Given the description of an element on the screen output the (x, y) to click on. 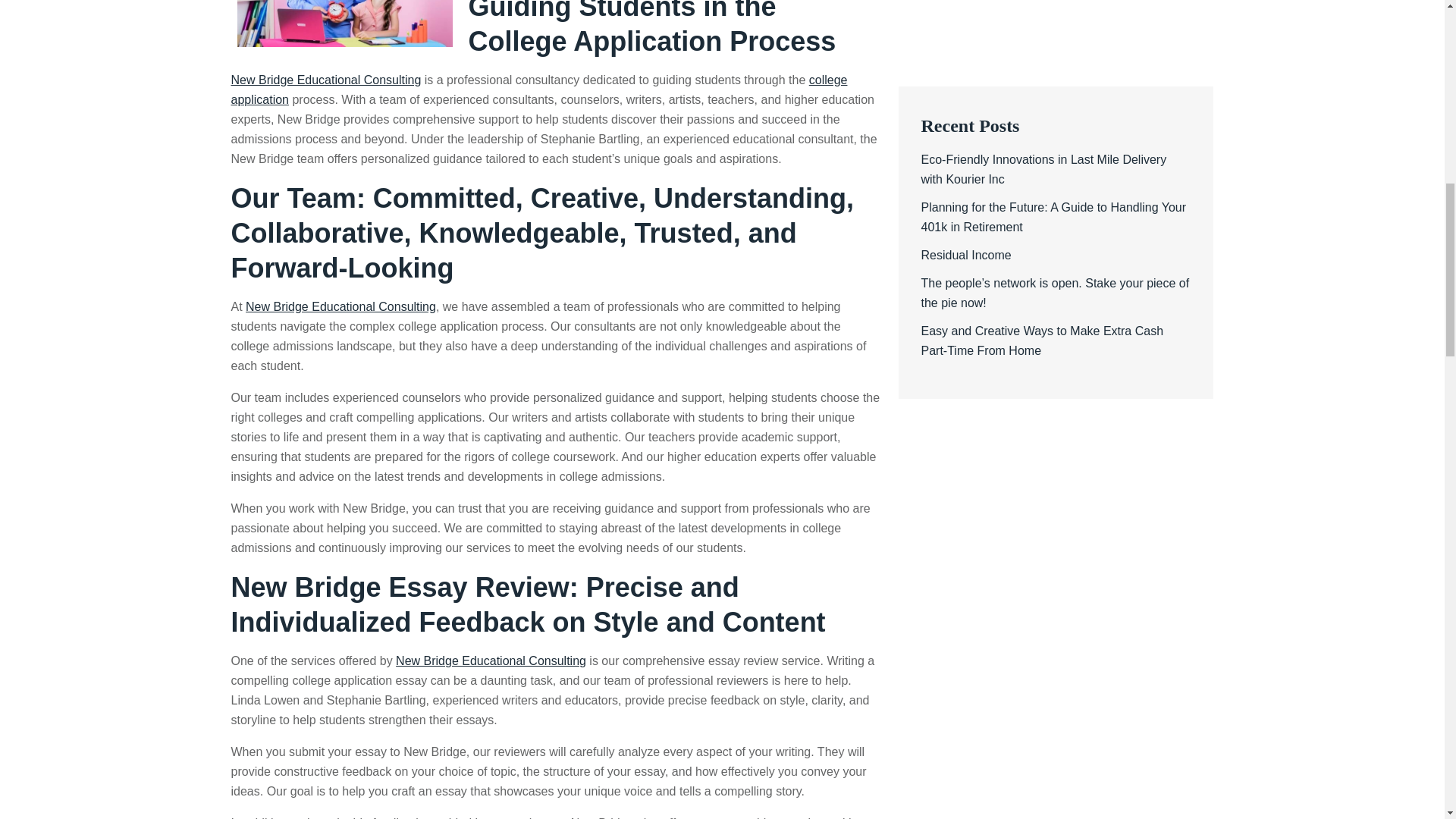
New Bridge Educational Consulting (340, 306)
college application (538, 89)
New Bridge Educational Consulting (325, 79)
New Bridge Educational Consulting (491, 660)
